Given the description of an element on the screen output the (x, y) to click on. 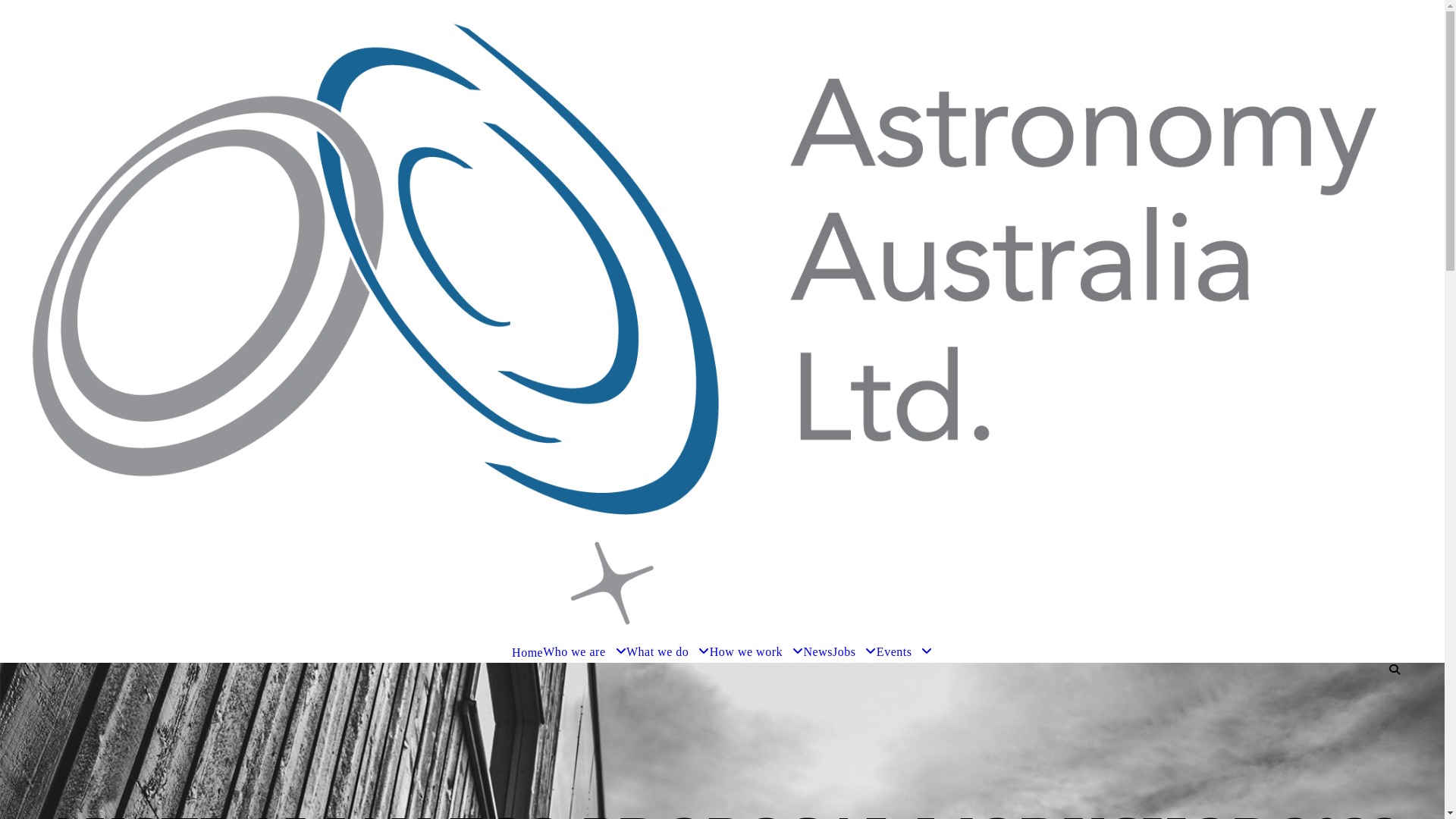
What we do Element type: text (667, 651)
How we work Element type: text (756, 651)
News Element type: text (817, 651)
aal_logo_RP revised_WWording_outline Element type: hover (722, 320)
Who we are Element type: text (584, 651)
Events Element type: text (904, 651)
Home Element type: text (526, 652)
Jobs Element type: text (854, 651)
